Given the description of an element on the screen output the (x, y) to click on. 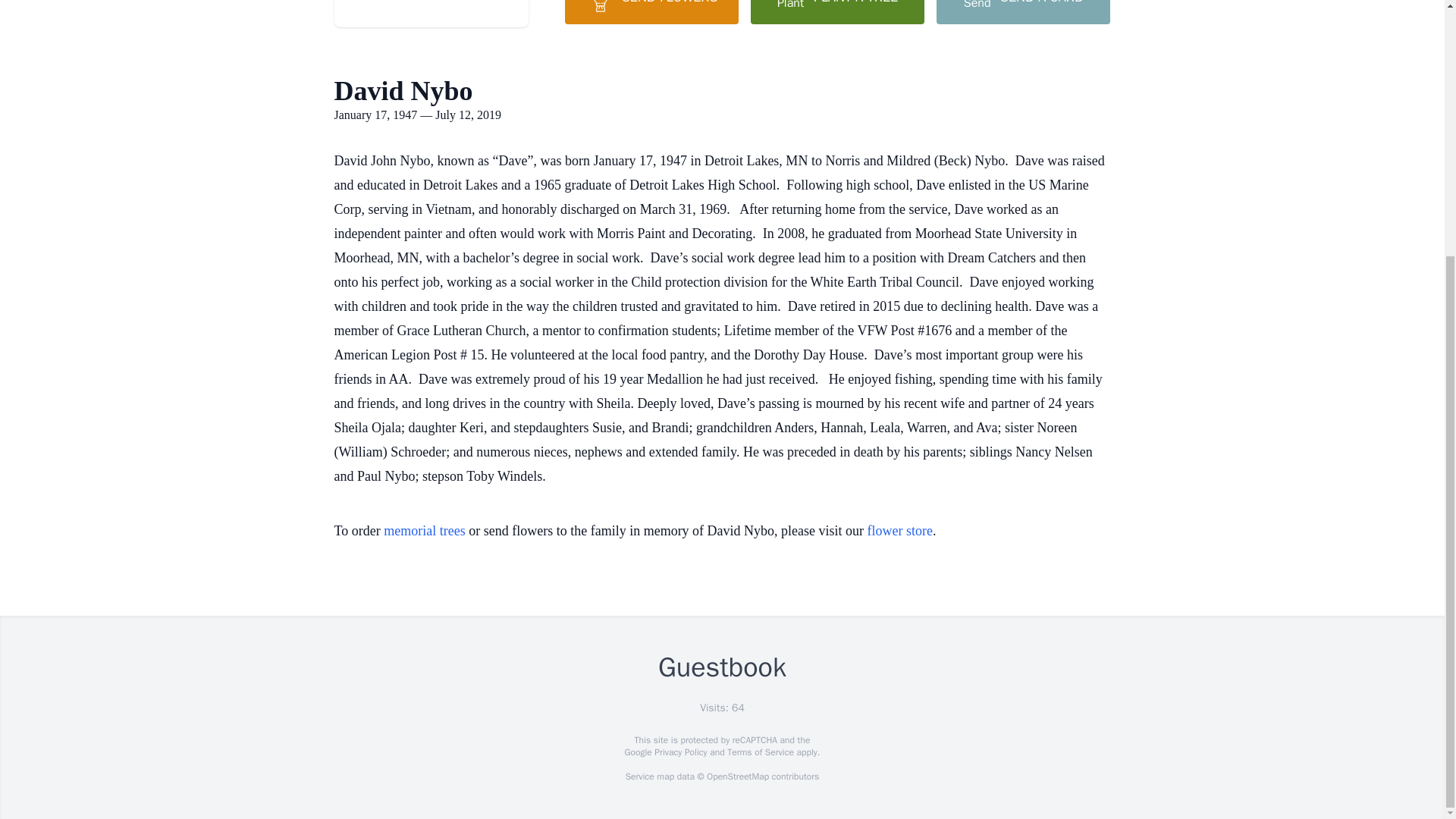
OpenStreetMap (737, 776)
Terms of Service (759, 752)
SEND FLOWERS (651, 12)
PLANT A TREE (837, 12)
flower store (900, 530)
Privacy Policy (679, 752)
memorial trees (424, 530)
SEND A CARD (1022, 12)
